Given the description of an element on the screen output the (x, y) to click on. 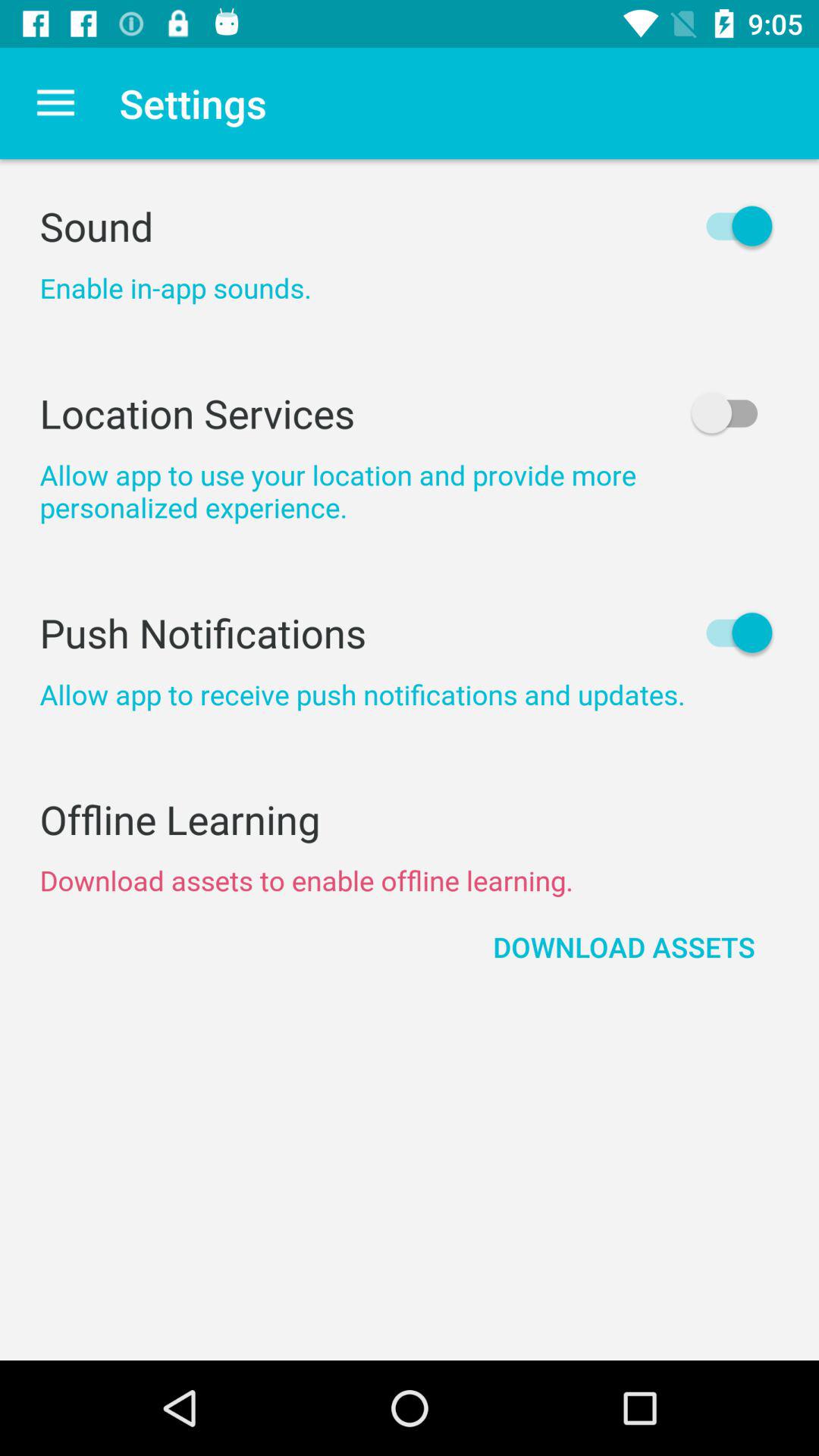
tap icon next to settings icon (55, 103)
